Given the description of an element on the screen output the (x, y) to click on. 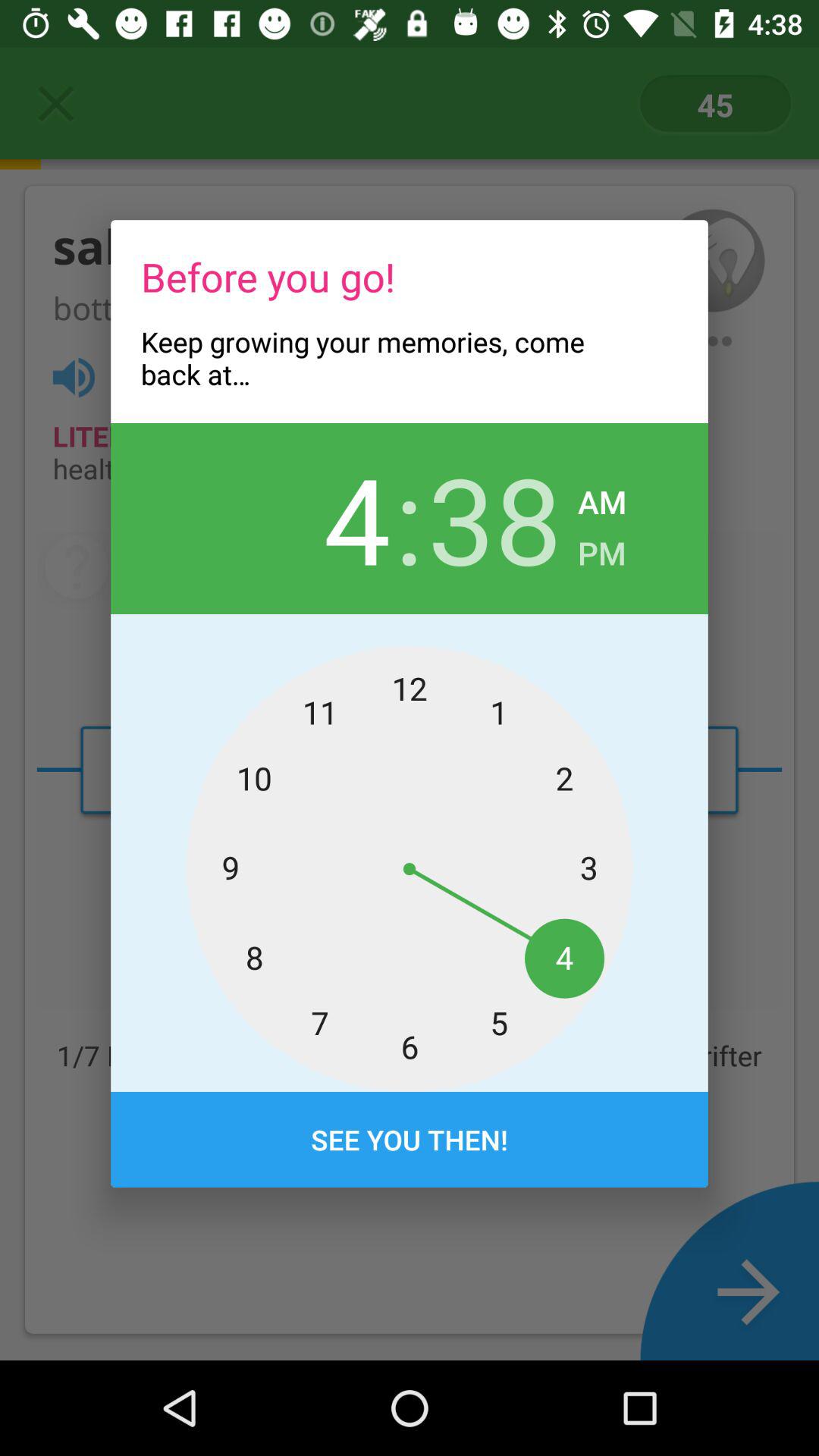
launch icon next to : icon (323, 518)
